Given the description of an element on the screen output the (x, y) to click on. 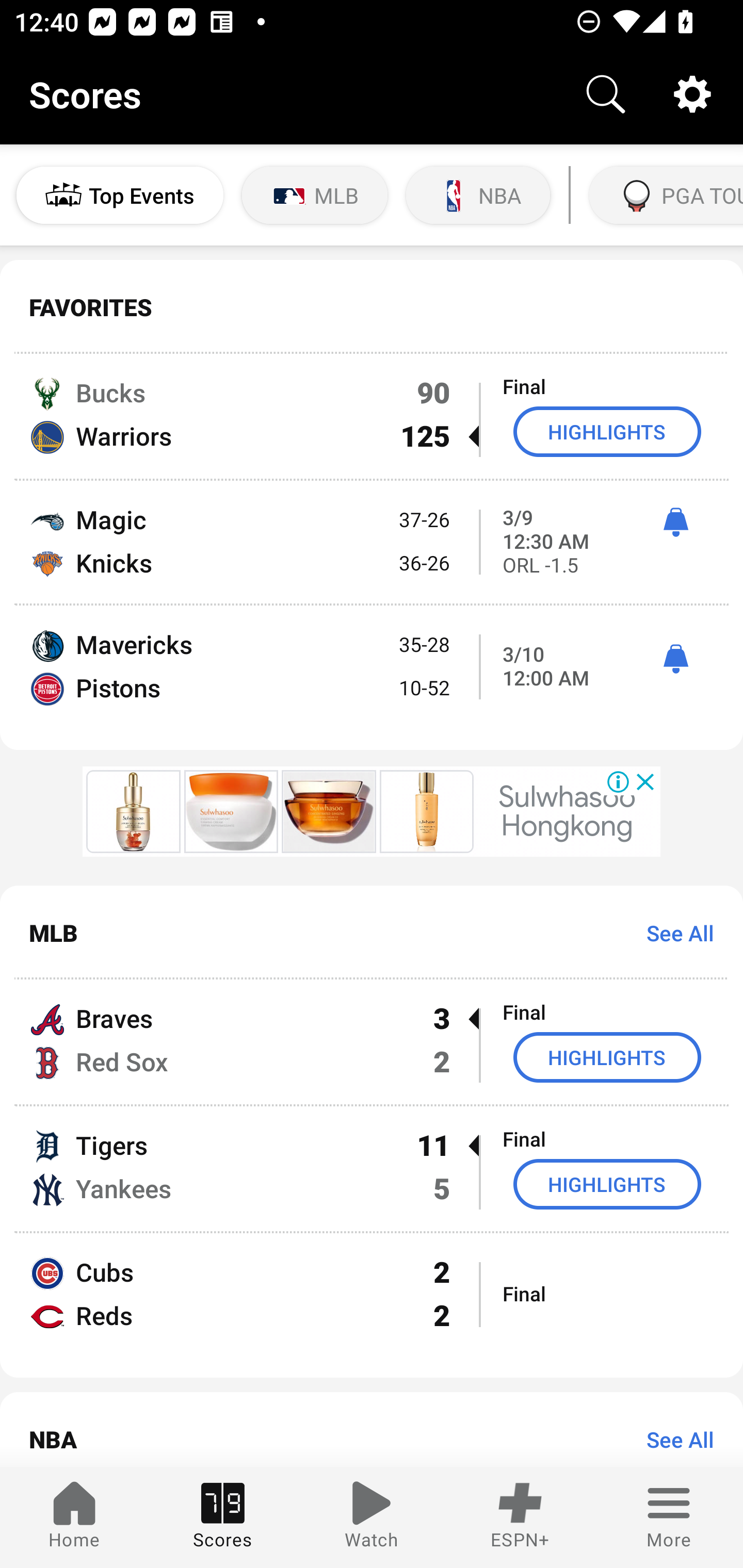
Search (605, 93)
Settings (692, 93)
 Top Events (119, 194)
MLB (314, 194)
NBA (477, 194)
PGA TOUR (664, 194)
FAVORITES (371, 307)
Bucks 90 Final Warriors 125  HIGHLIGHTS (371, 416)
HIGHLIGHTS (607, 431)
Magic 37-26 Knicks 36-26 3/9 12:30 AM ì ORL -1.5 (371, 542)
ì (675, 522)
Mavericks 35-28 Pistons 10-52 3/10 12:00 AM ì (371, 677)
ì (675, 658)
Sulwhasoo Hongkong Sulwhasoo
Hongkong (566, 811)
MLB See All (371, 932)
See All (673, 932)
Braves 3  Final Red Sox 2 HIGHLIGHTS (371, 1041)
HIGHLIGHTS (607, 1056)
Tigers 11  Final Yankees 5 HIGHLIGHTS (371, 1168)
HIGHLIGHTS (607, 1183)
Cubs 2 Reds 2 Final (371, 1306)
NBA See All (371, 1429)
See All (673, 1439)
Home (74, 1517)
Watch (371, 1517)
ESPN+ (519, 1517)
More (668, 1517)
